Given the description of an element on the screen output the (x, y) to click on. 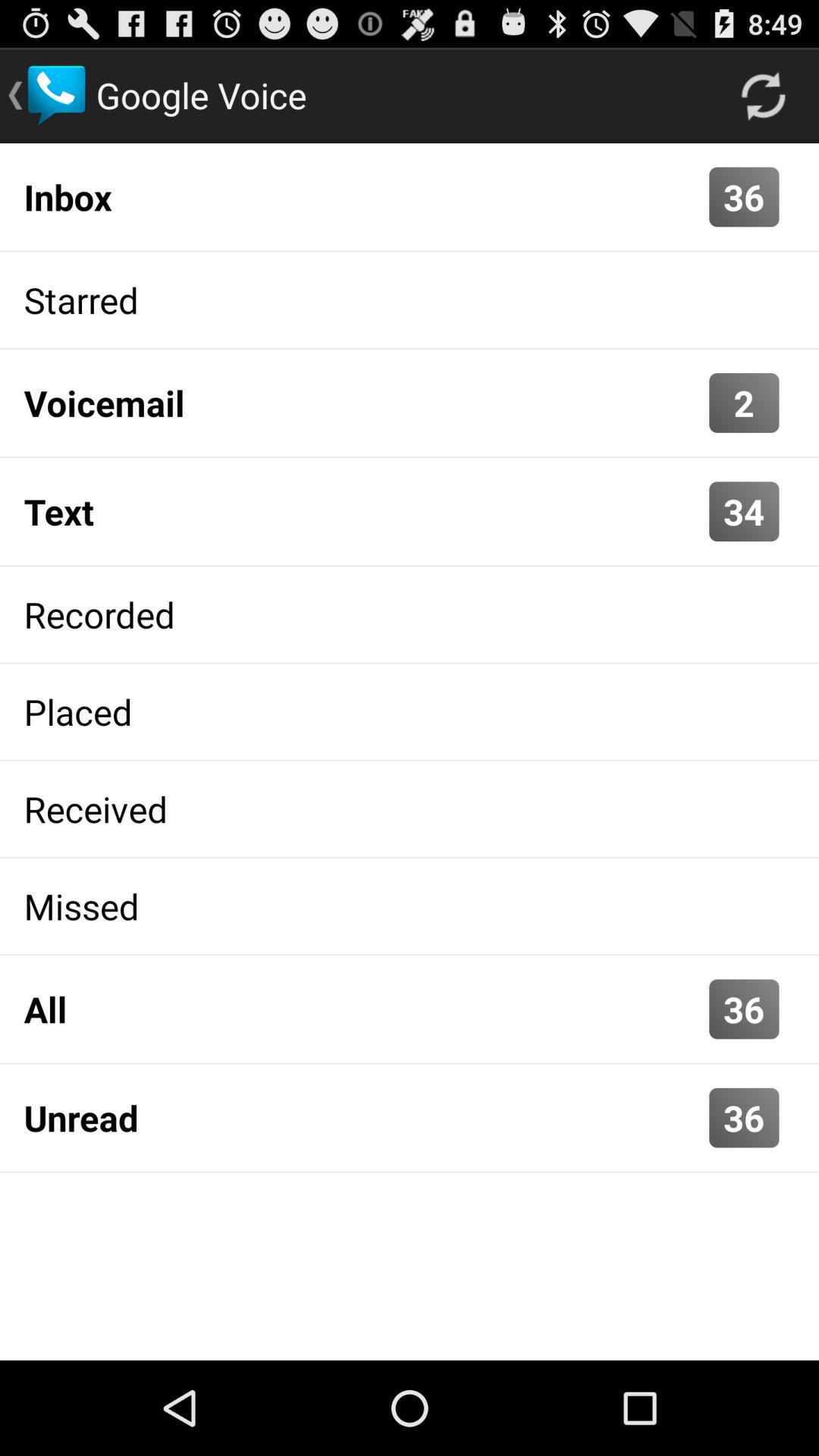
open icon next to 36 (362, 1117)
